Given the description of an element on the screen output the (x, y) to click on. 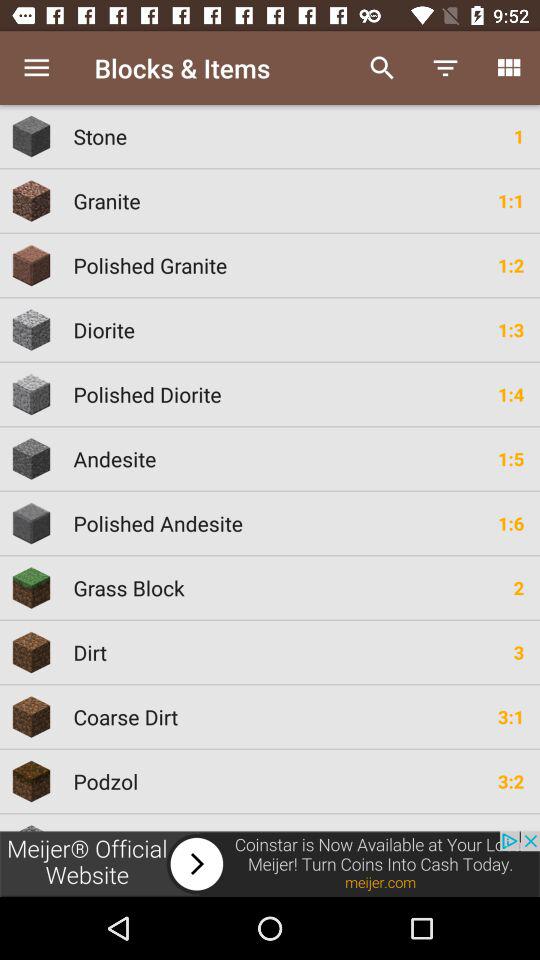
open advertisement (270, 864)
